Given the description of an element on the screen output the (x, y) to click on. 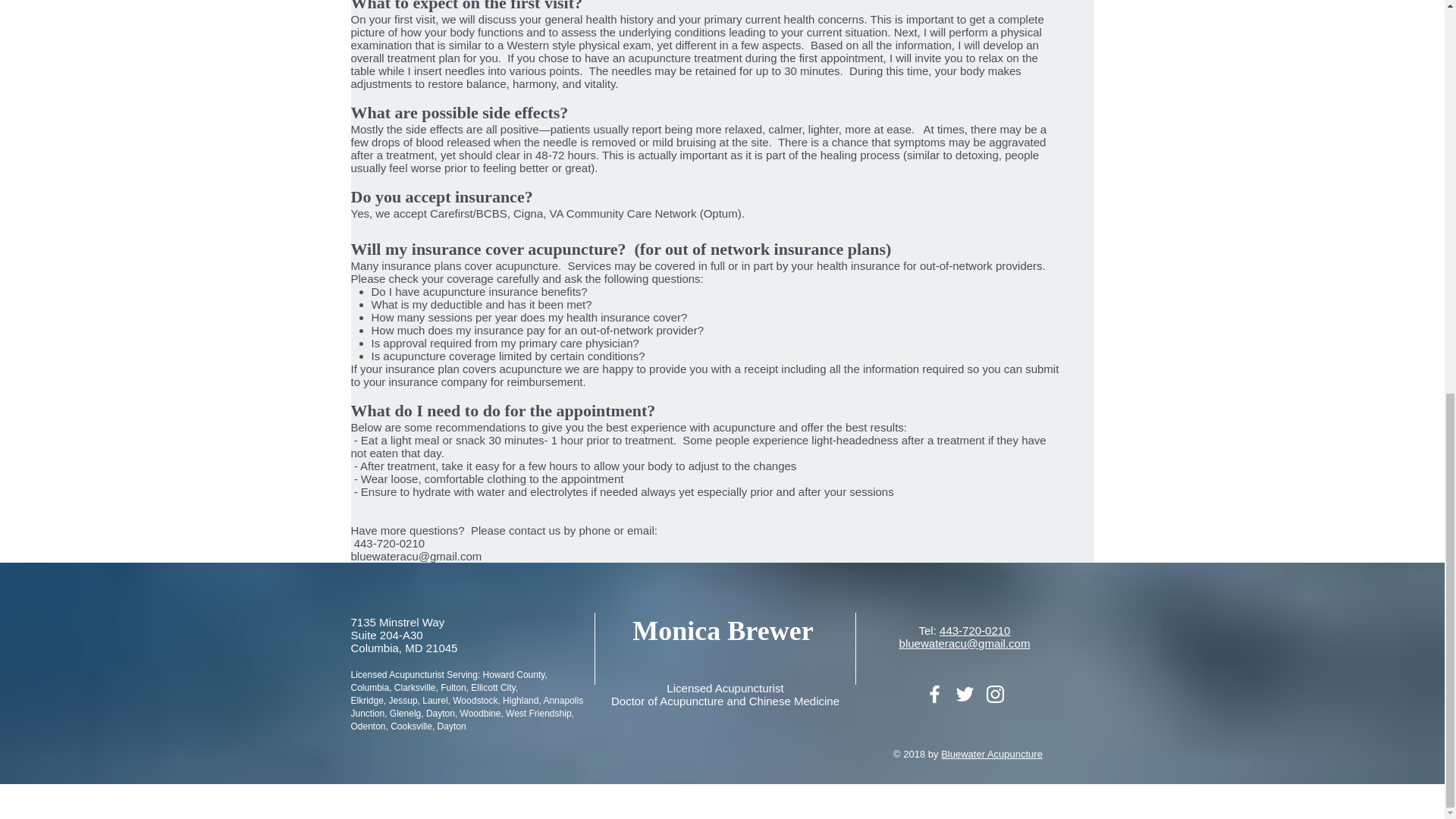
Licensed Acupuncturist (724, 687)
443-720-0210 (974, 630)
Bluewater Acupuncture (991, 754)
Monica Brewer (721, 630)
